Given the description of an element on the screen output the (x, y) to click on. 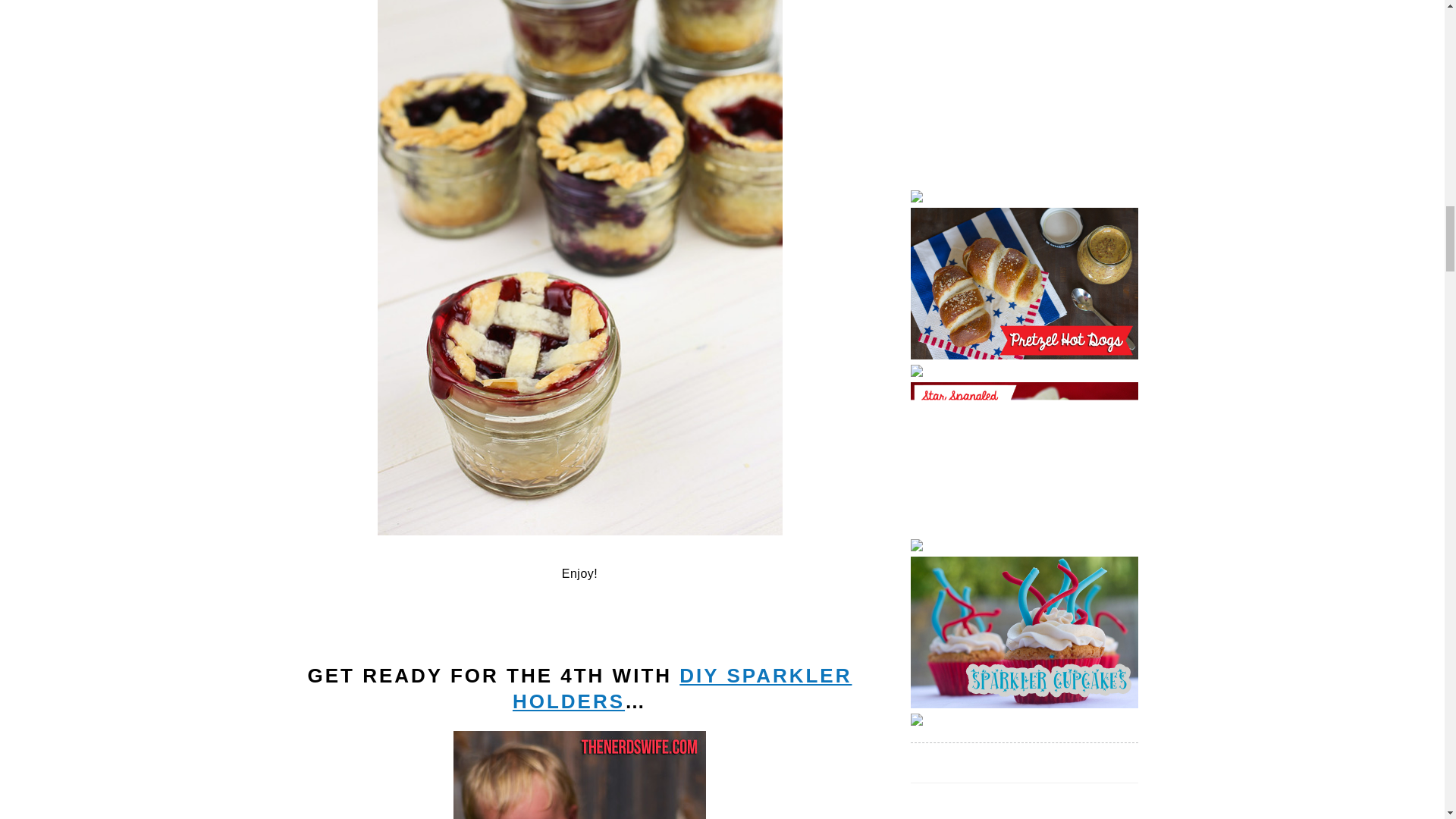
DIY SPARKLER HOLDERS (681, 688)
DIY Star Sparkler Holder by Arena Blake, on Flickr (578, 775)
